Given the description of an element on the screen output the (x, y) to click on. 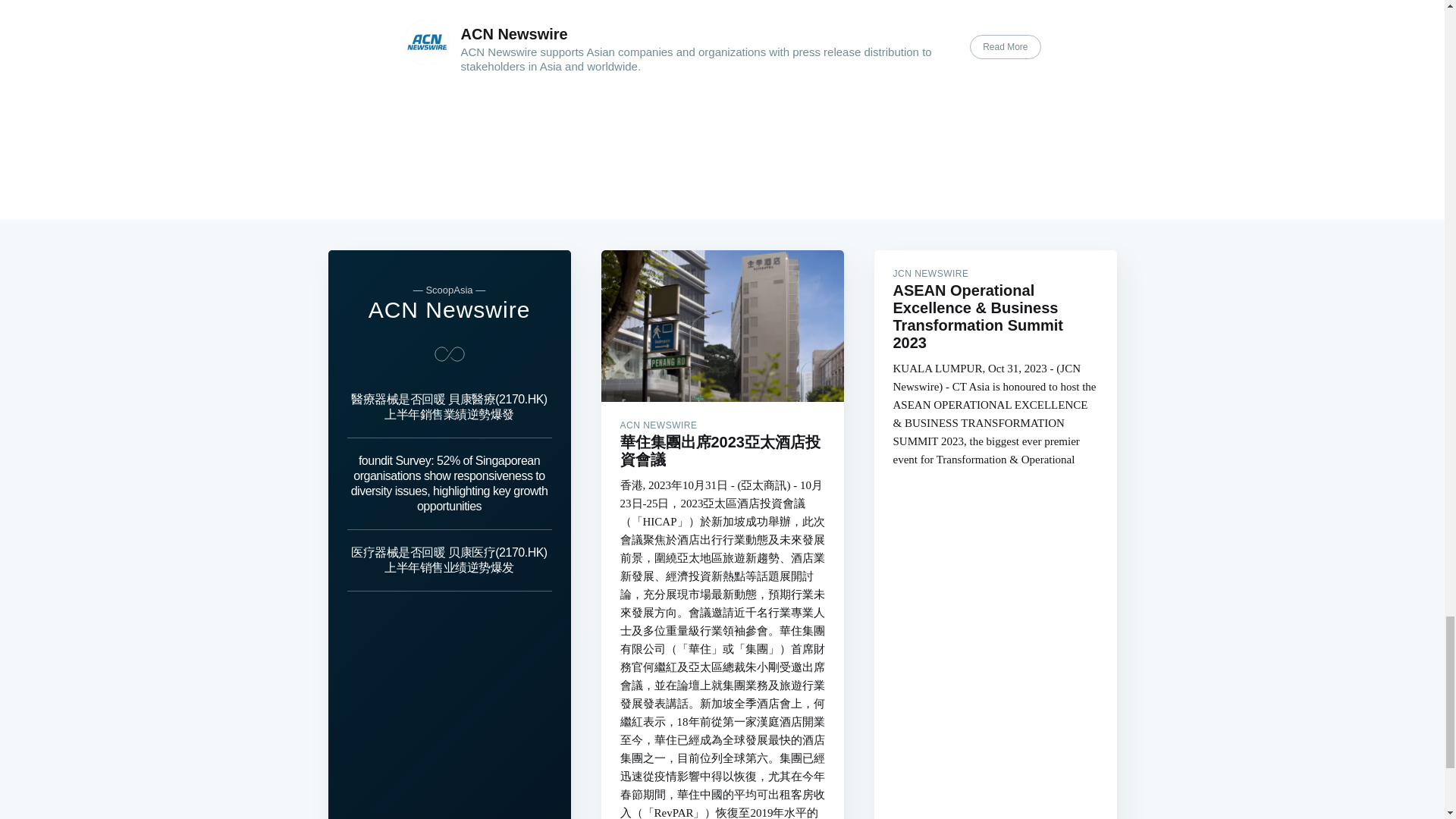
ACN Newswire (514, 33)
Read More (1005, 46)
ACN Newswire (449, 309)
